Given the description of an element on the screen output the (x, y) to click on. 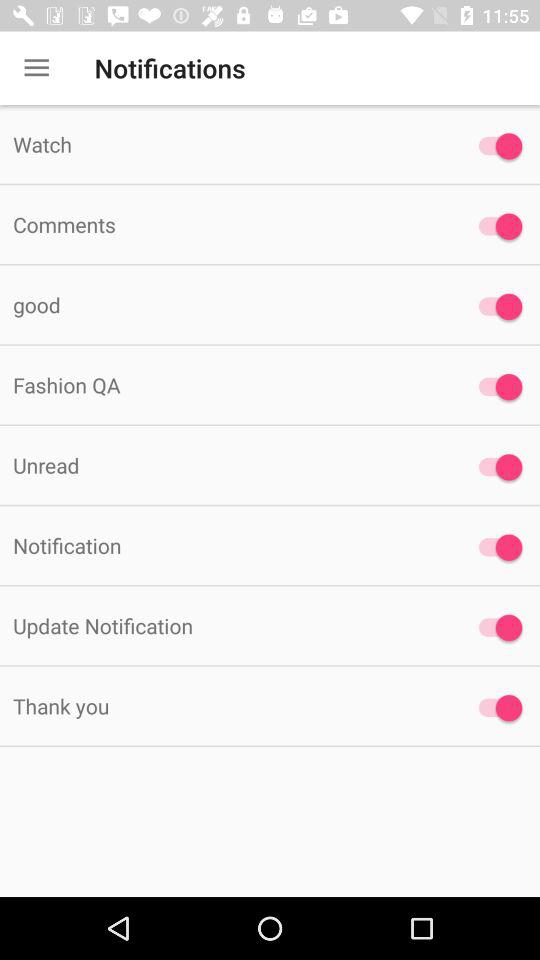
select the item below good item (225, 384)
